Given the description of an element on the screen output the (x, y) to click on. 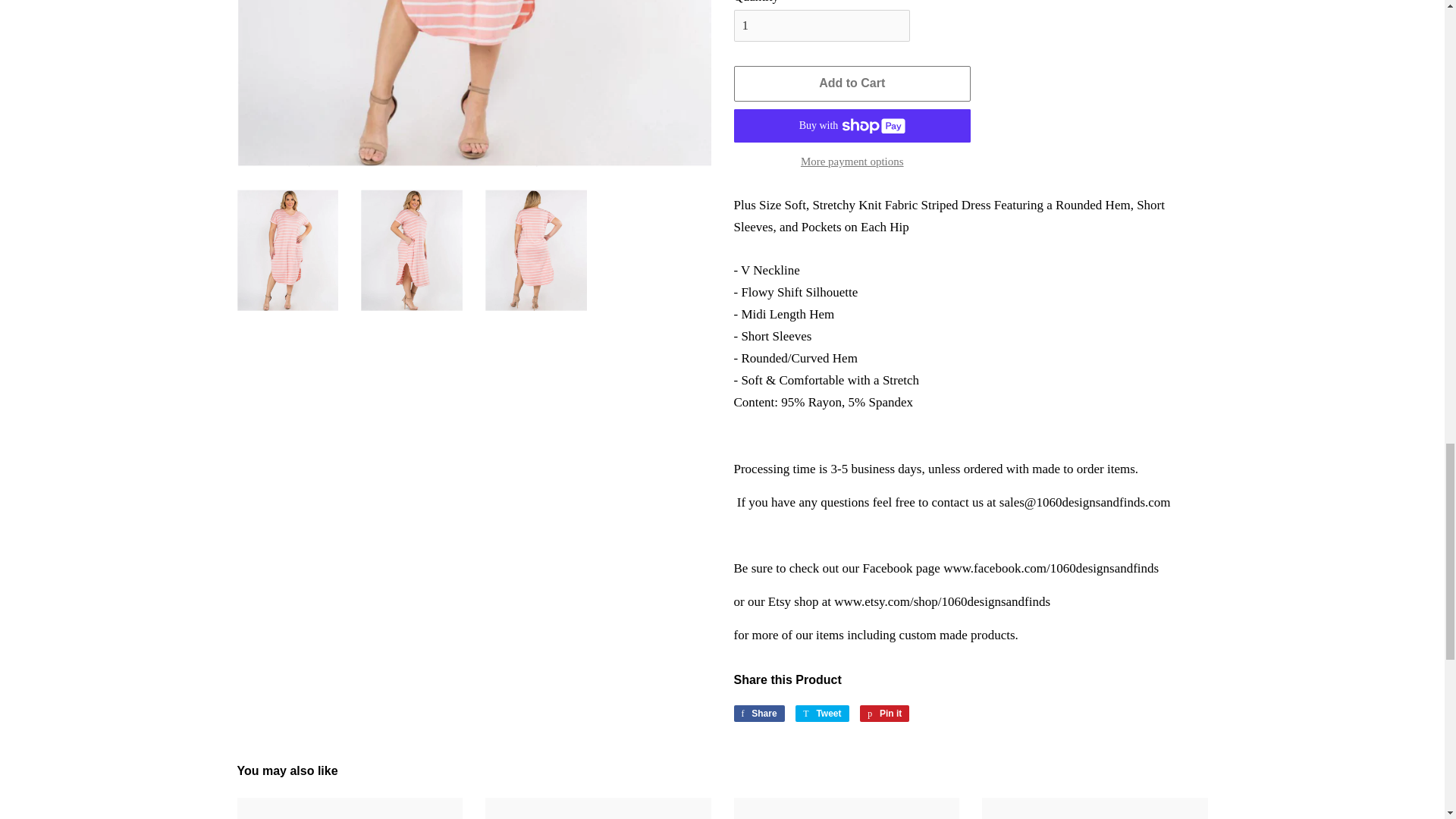
Share on Facebook (758, 713)
More payment options (758, 713)
Tweet on Twitter (852, 160)
Pin on Pinterest (821, 713)
1 (884, 713)
Add to Cart (821, 713)
